Given the description of an element on the screen output the (x, y) to click on. 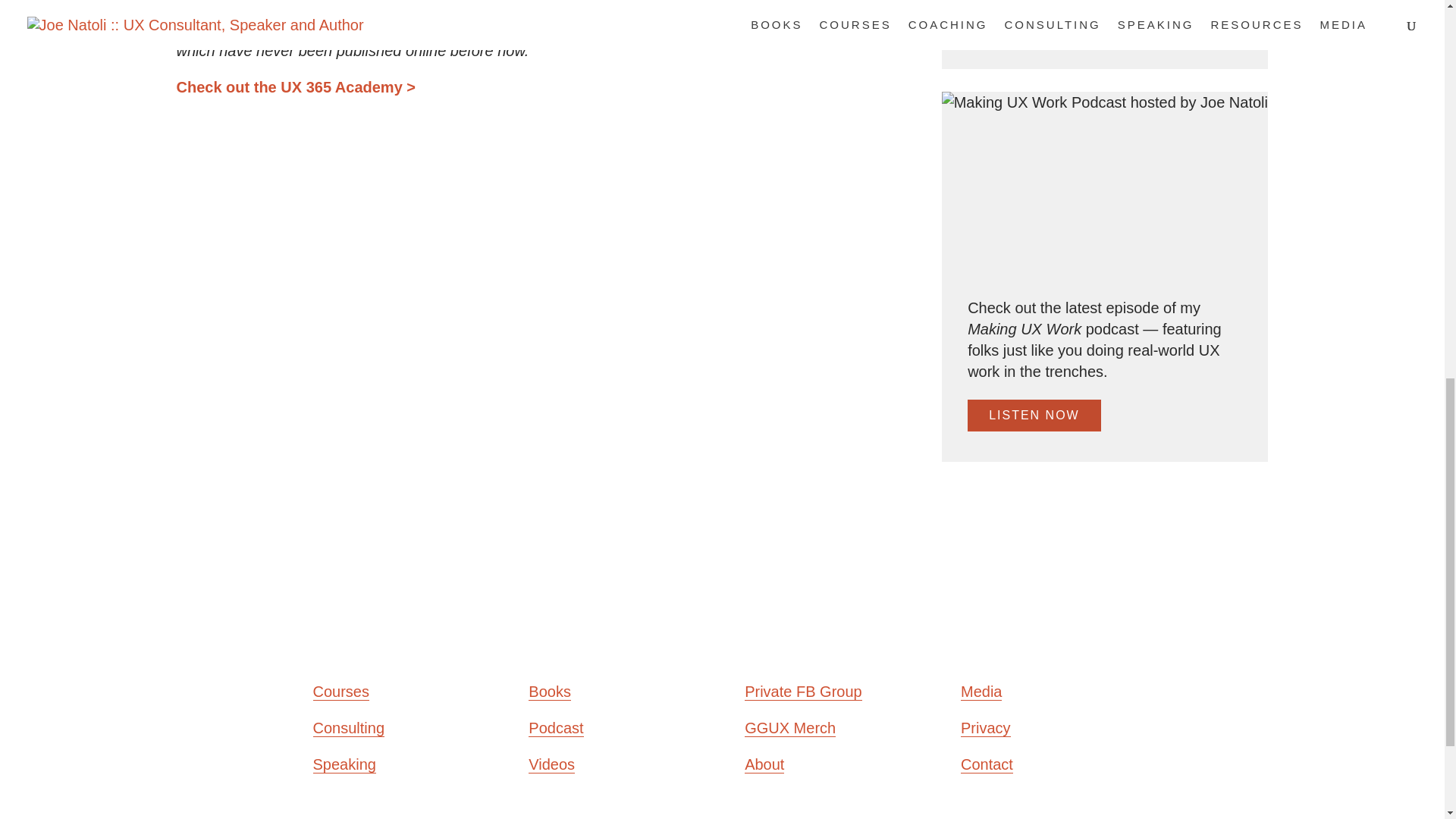
Consulting (348, 728)
Podcast (555, 728)
LISTEN NOW (1034, 415)
Books (549, 692)
Speaking (344, 764)
Videos (551, 764)
Media (980, 692)
GET THINK FIRST (1051, 22)
Courses (340, 692)
GGUX Merch (789, 728)
About (764, 764)
Private FB Group (802, 692)
Privacy (985, 728)
Contact (986, 764)
